Given the description of an element on the screen output the (x, y) to click on. 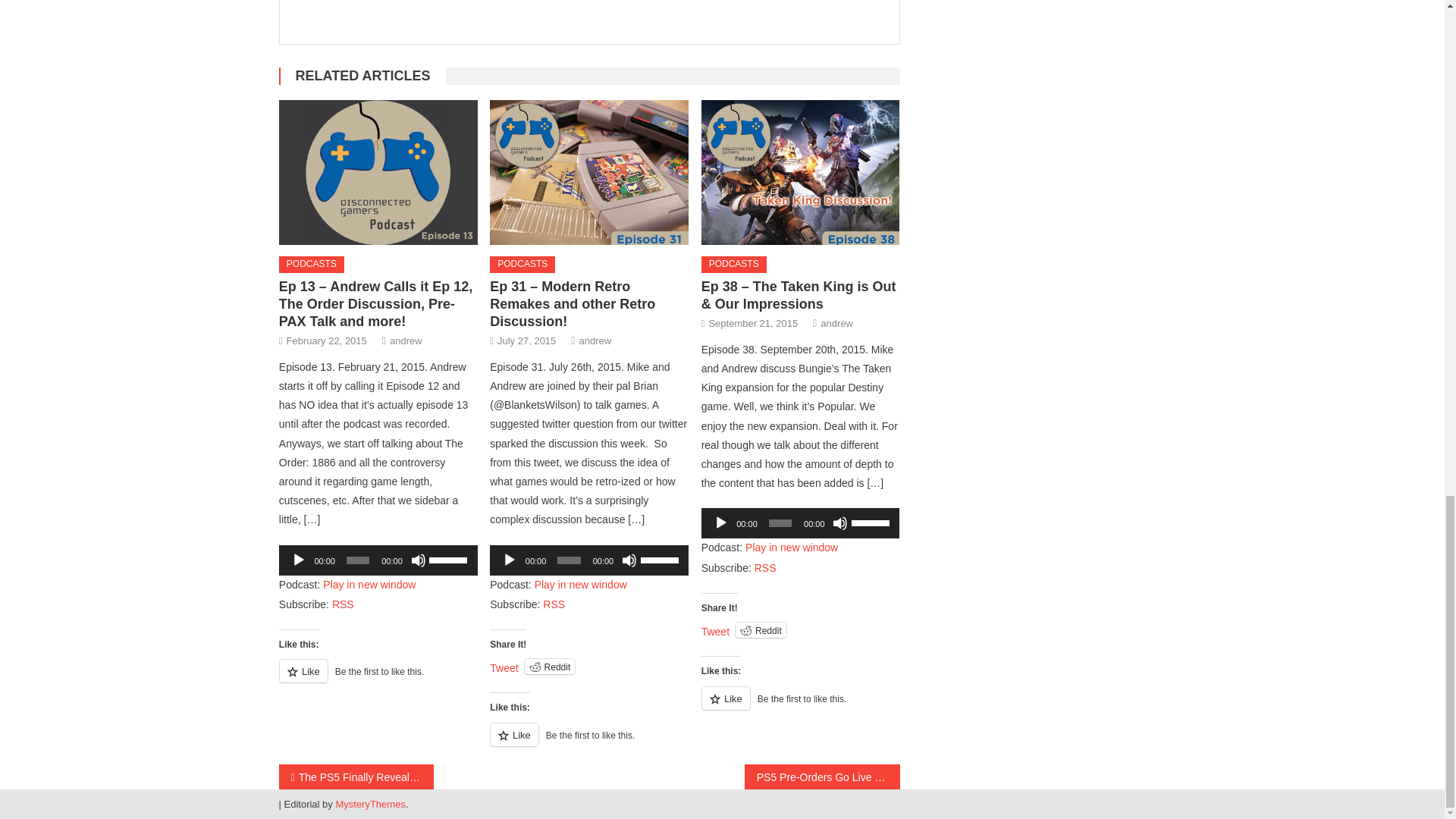
Subscribe via RSS (342, 604)
Like or Reblog (588, 743)
Click to share on Reddit (549, 666)
Like or Reblog (378, 680)
Subscribe via RSS (553, 604)
Play (509, 560)
Mute (418, 560)
Mute (629, 560)
Play in new window (580, 584)
Play (298, 560)
PODCASTS (311, 264)
February 22, 2015 (326, 340)
Play in new window (368, 584)
